Given the description of an element on the screen output the (x, y) to click on. 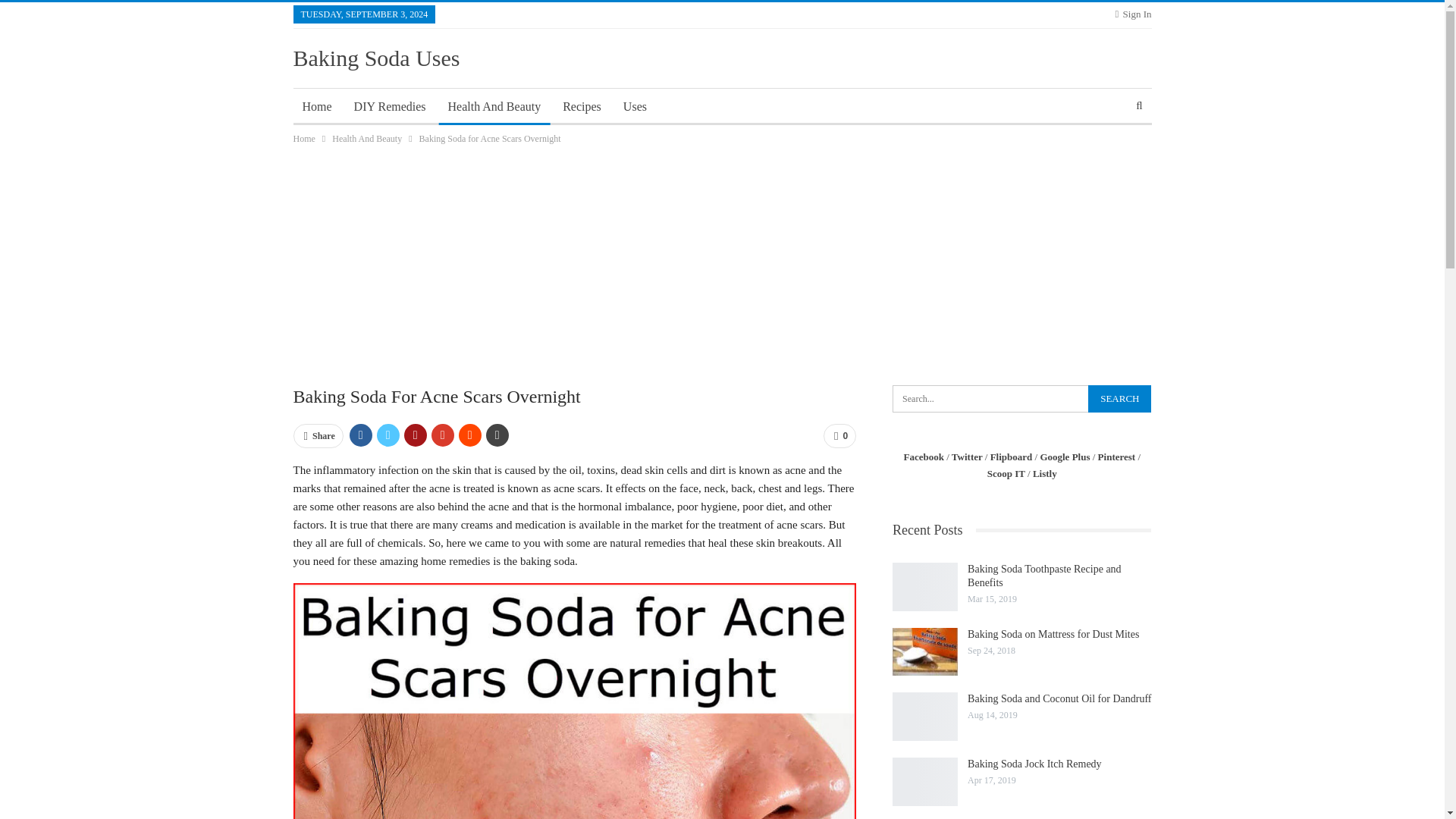
Uses (635, 106)
DIY Remedies (390, 106)
Health And Beauty (366, 138)
Recipes (581, 106)
Baking Soda Uses (376, 57)
Sign In (1133, 13)
Search (1119, 398)
0 (840, 435)
Home (316, 106)
